Given the description of an element on the screen output the (x, y) to click on. 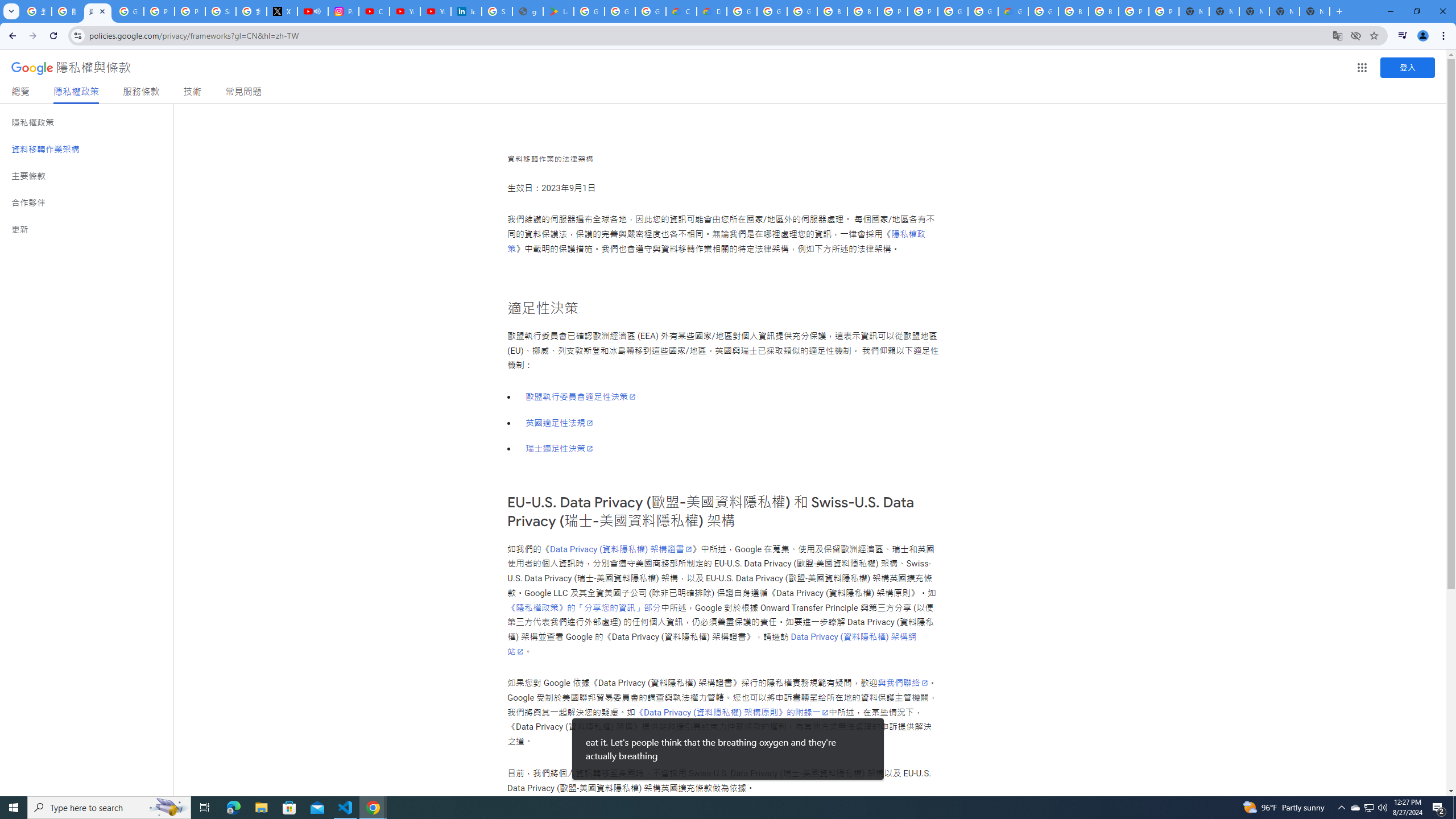
Sign in - Google Accounts (220, 11)
Google Cloud Platform (741, 11)
Google Cloud Platform (1042, 11)
X (282, 11)
Browse Chrome as a guest - Computer - Google Chrome Help (832, 11)
